Given the description of an element on the screen output the (x, y) to click on. 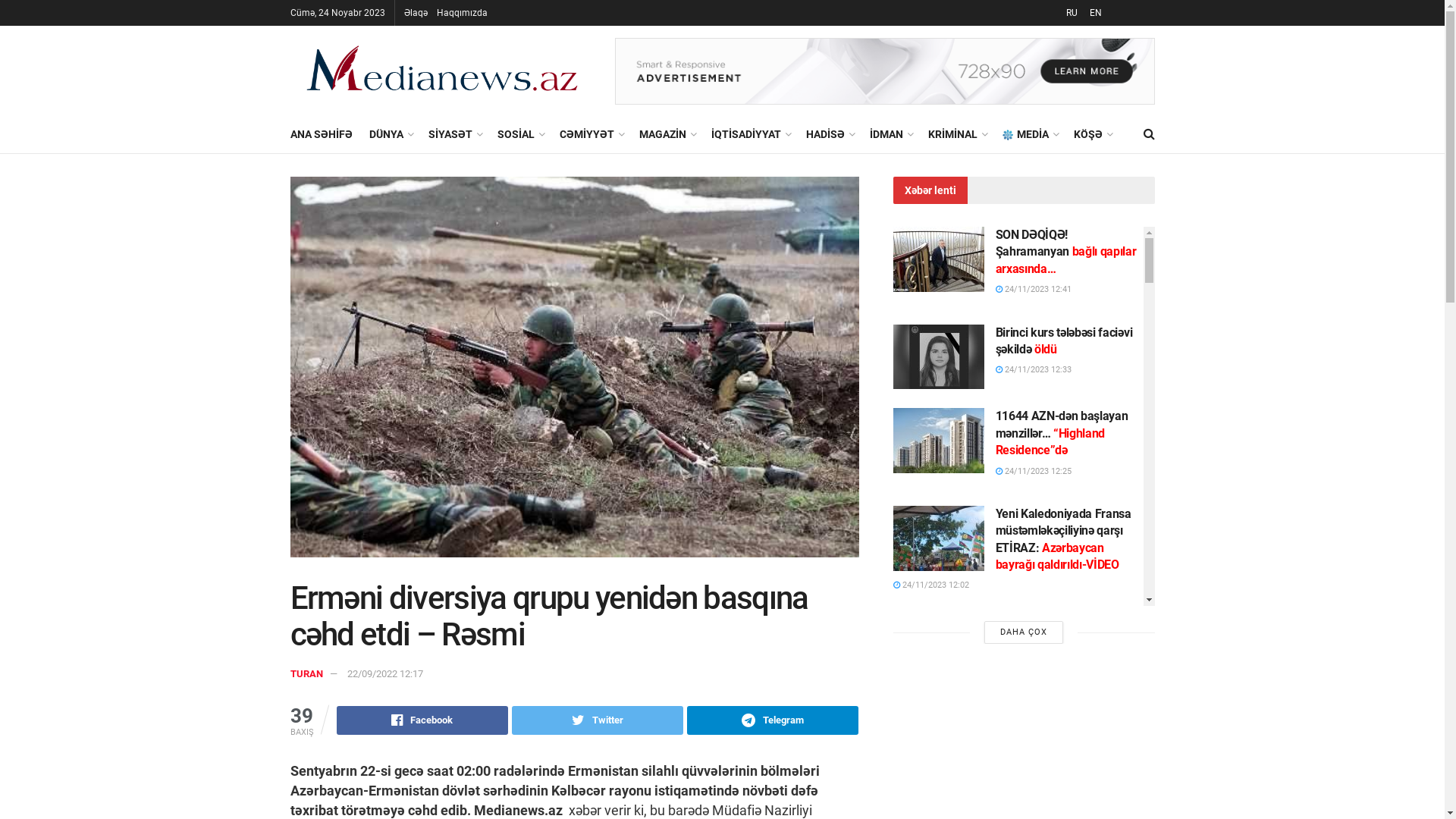
24/11/2023 12:41 Element type: text (1032, 289)
24/11/2023 12:33 Element type: text (1032, 369)
SOSIAL Element type: text (519, 133)
Facebook Element type: text (422, 720)
MEDIA Element type: text (1029, 133)
24/11/2023 11:27 Element type: text (1032, 780)
24/11/2023 12:02 Element type: text (931, 584)
EN Element type: text (1093, 12)
24/11/2023 11:44 Element type: text (931, 699)
24/11/2023 12:25 Element type: text (1032, 471)
MAGAZIN Element type: text (665, 133)
Telegram Element type: text (772, 720)
KRIMINAL Element type: text (956, 133)
TURAN Element type: text (305, 673)
Twitter Element type: text (597, 720)
RU Element type: text (1070, 12)
22/09/2022 12:17 Element type: text (385, 673)
